Given the description of an element on the screen output the (x, y) to click on. 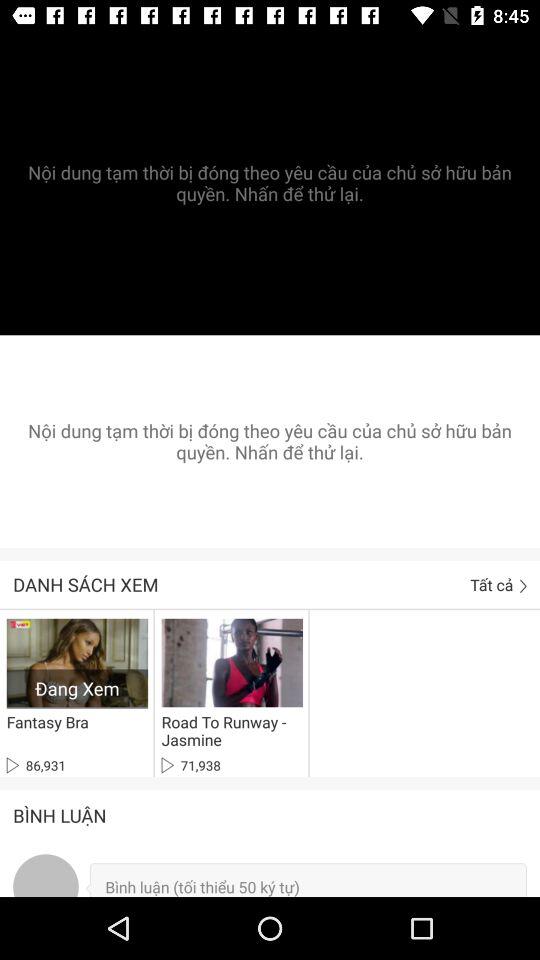
scroll until the road to runway (228, 731)
